Given the description of an element on the screen output the (x, y) to click on. 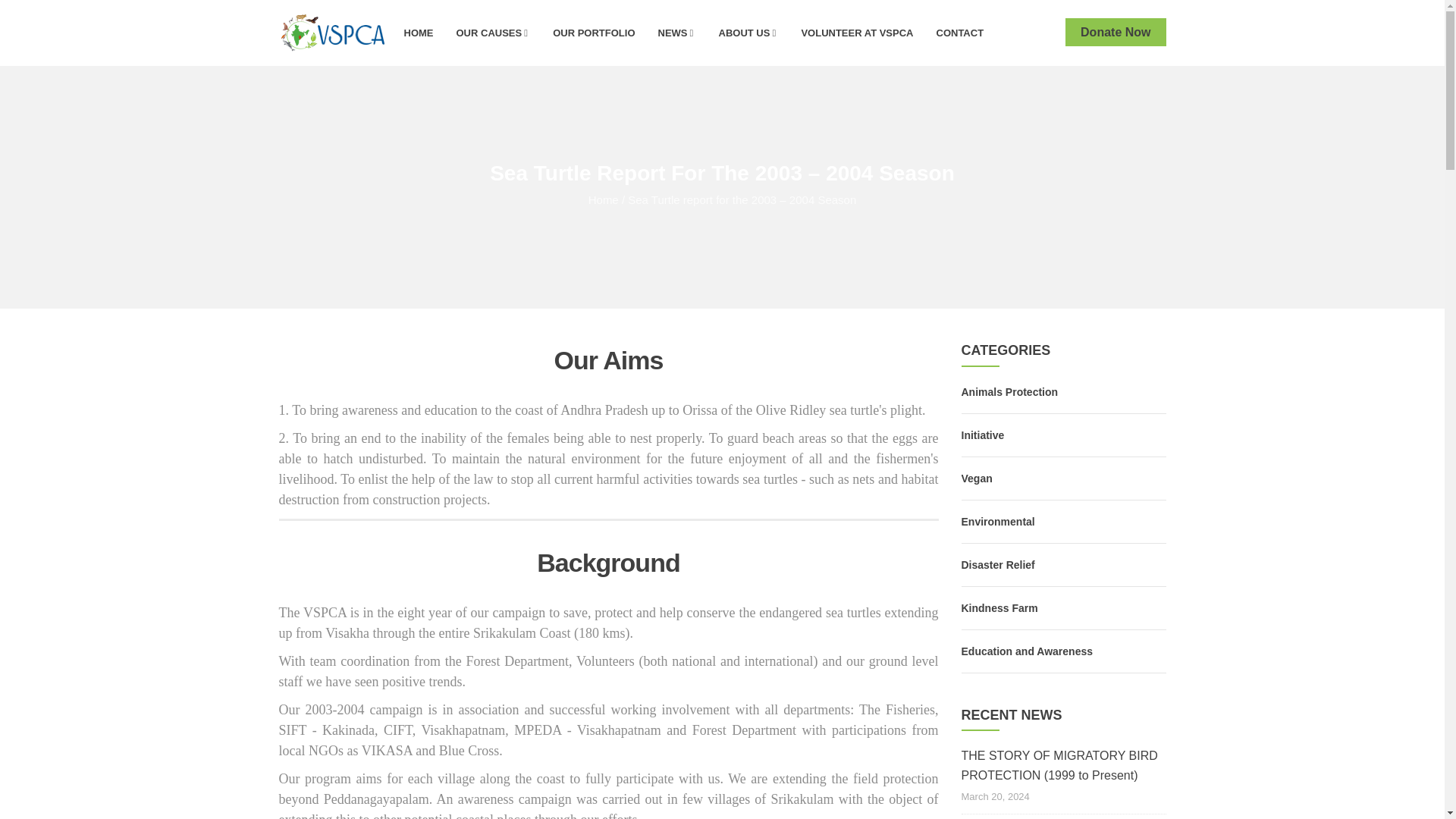
OUR PORTFOLIO (593, 32)
NEWS (676, 32)
OUR CAUSES (492, 32)
HOME (419, 32)
